Given the description of an element on the screen output the (x, y) to click on. 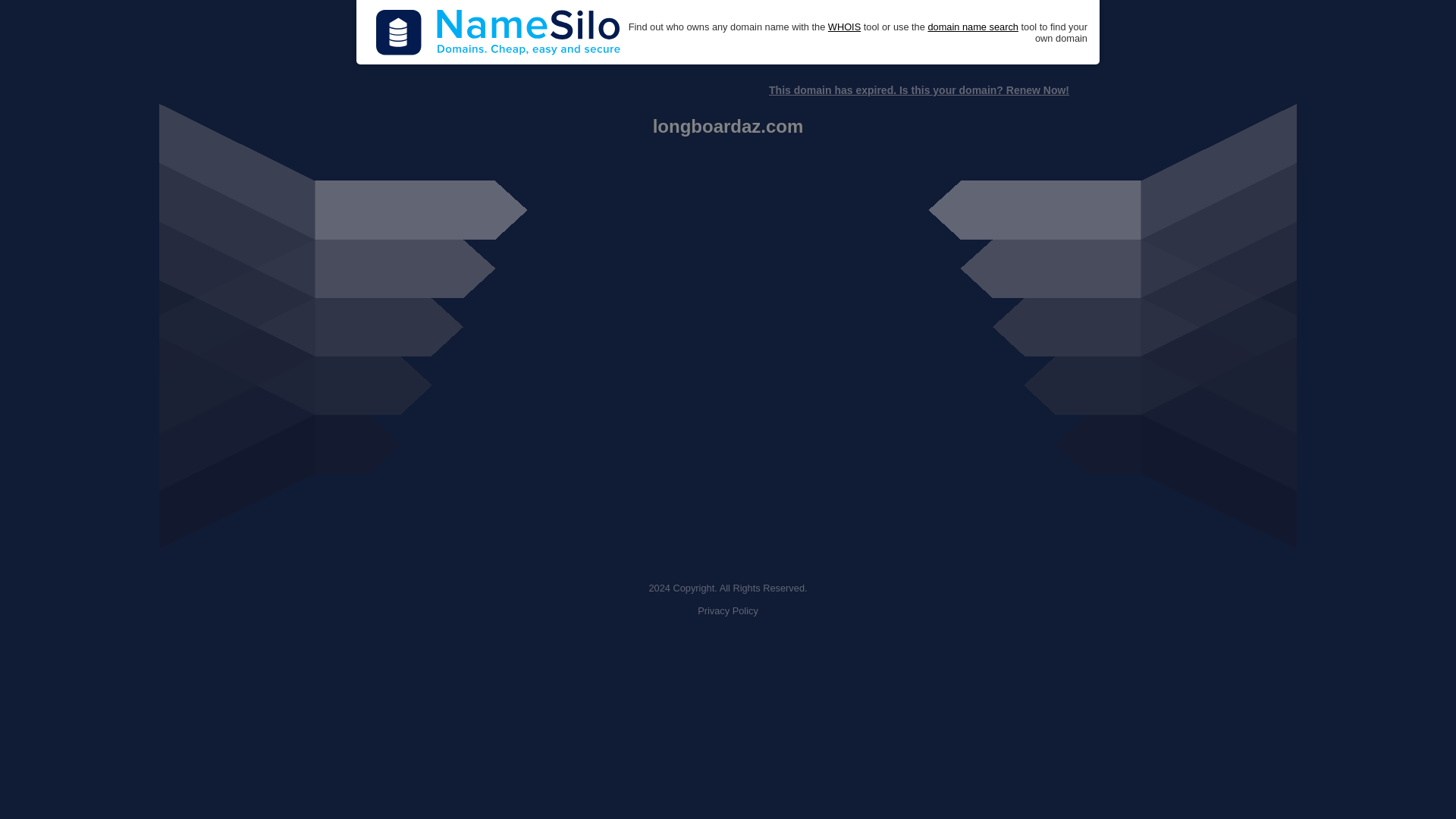
domain name search (972, 26)
Privacy Policy (727, 610)
This domain has expired. Is this your domain? Renew Now! (918, 90)
WHOIS (844, 26)
